Given the description of an element on the screen output the (x, y) to click on. 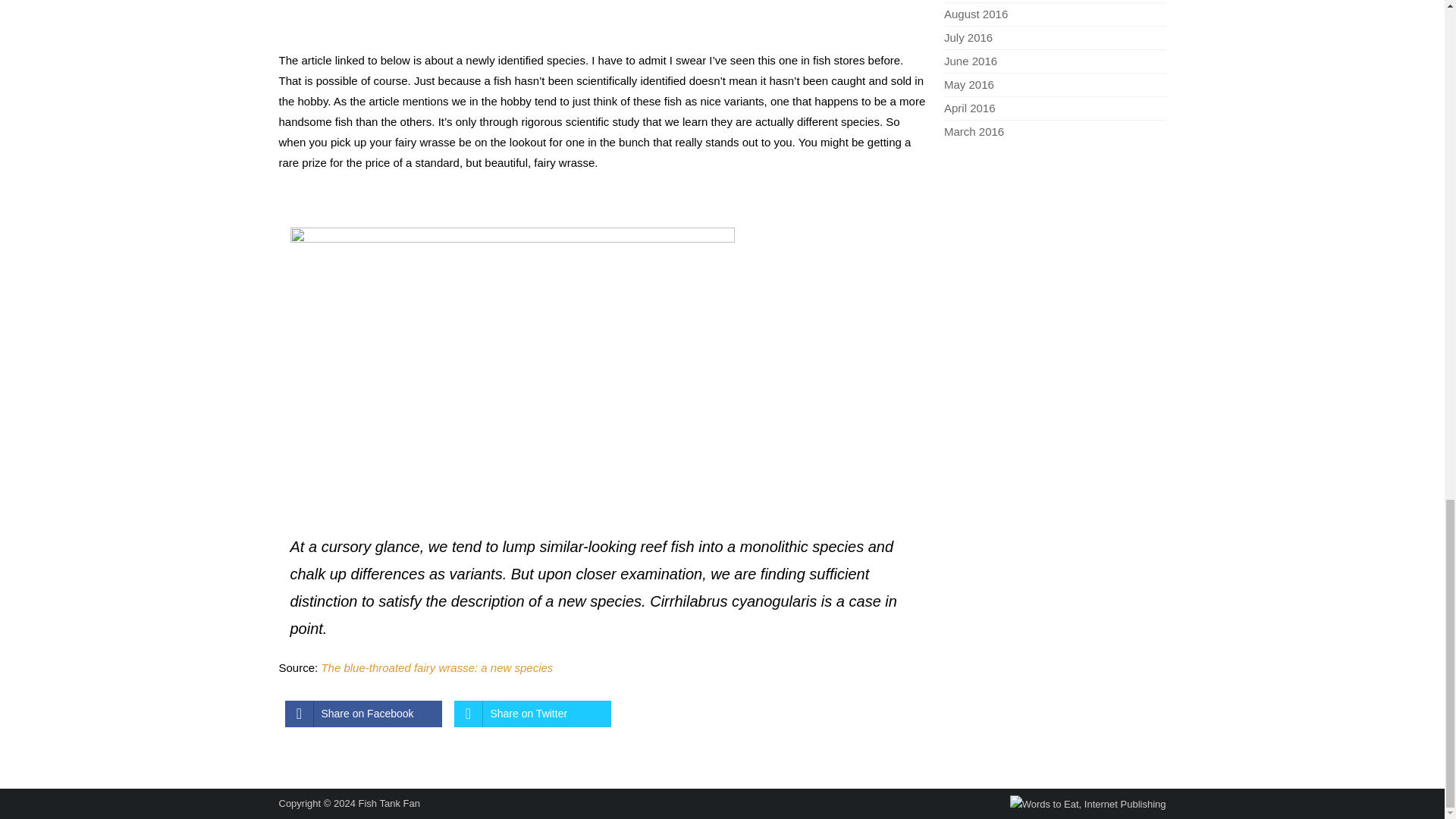
Share on Twitter (531, 714)
Share on Facebook (363, 714)
The blue-throated fairy wrasse: a new species (436, 667)
Share on Twitter (531, 714)
Share on Facebook (363, 714)
